Given the description of an element on the screen output the (x, y) to click on. 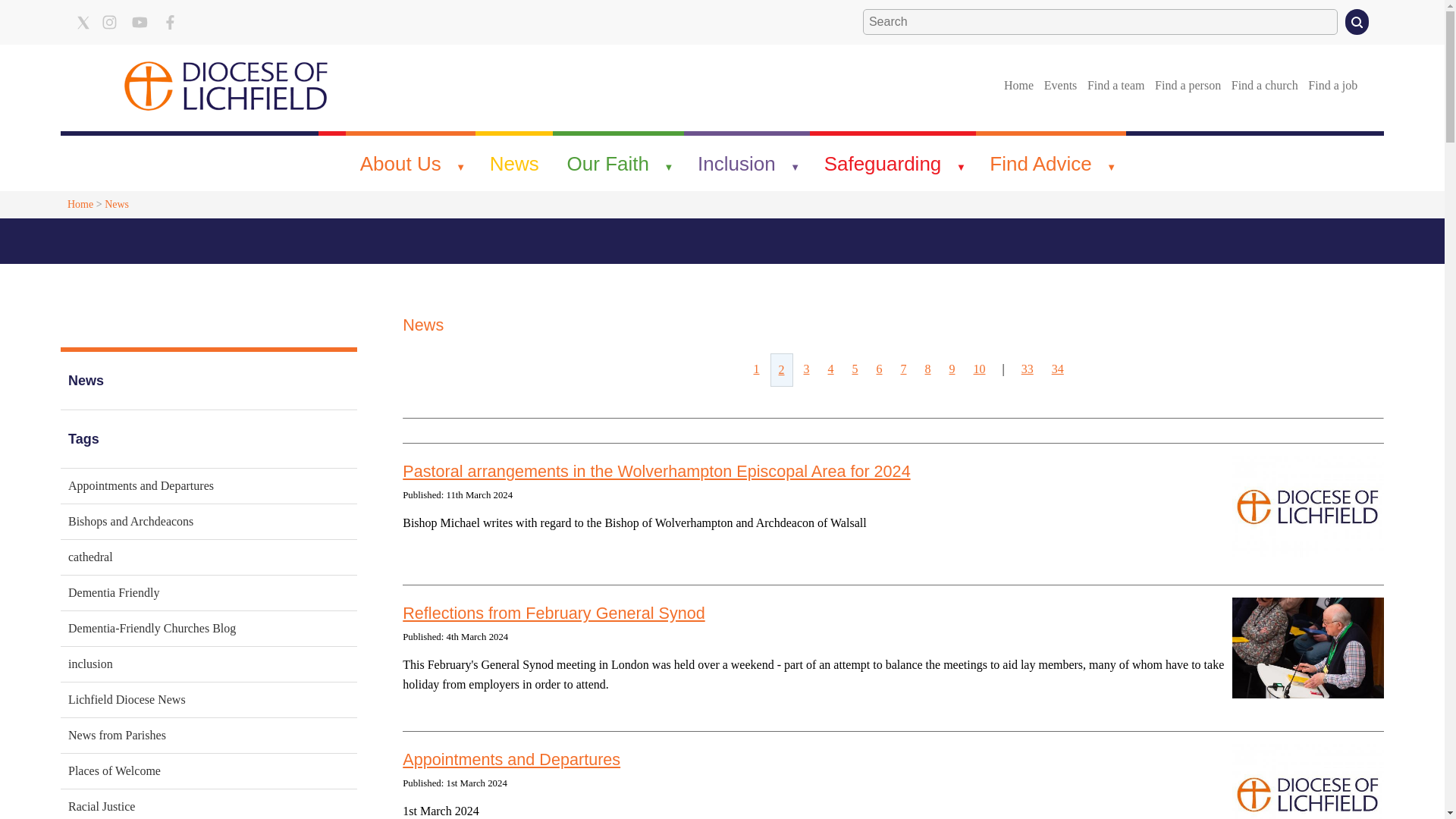
Find a church (1264, 84)
Logo (226, 85)
Home (1018, 84)
Find a job (1332, 84)
Find a team (1115, 84)
Find a person (1187, 84)
Events (1060, 84)
